Given the description of an element on the screen output the (x, y) to click on. 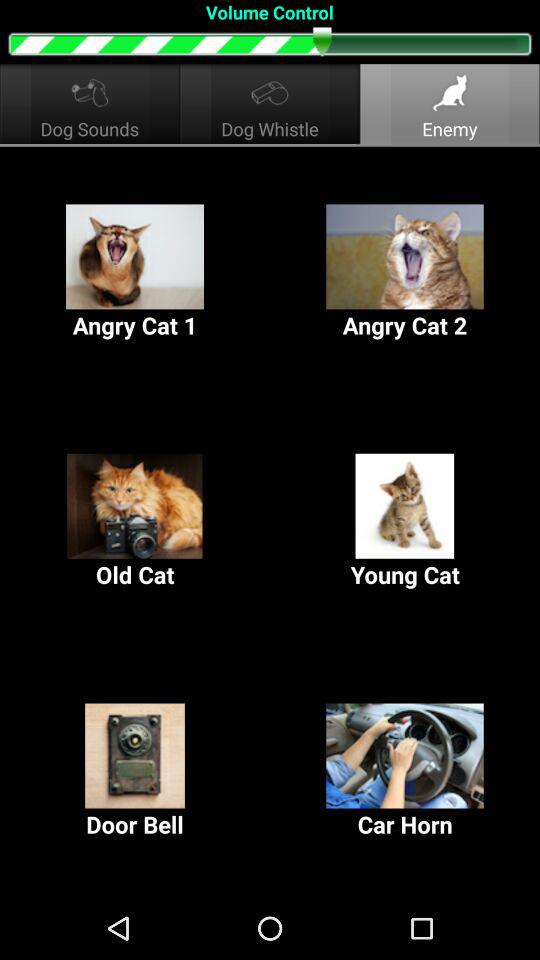
swipe to the car horn button (405, 771)
